Given the description of an element on the screen output the (x, y) to click on. 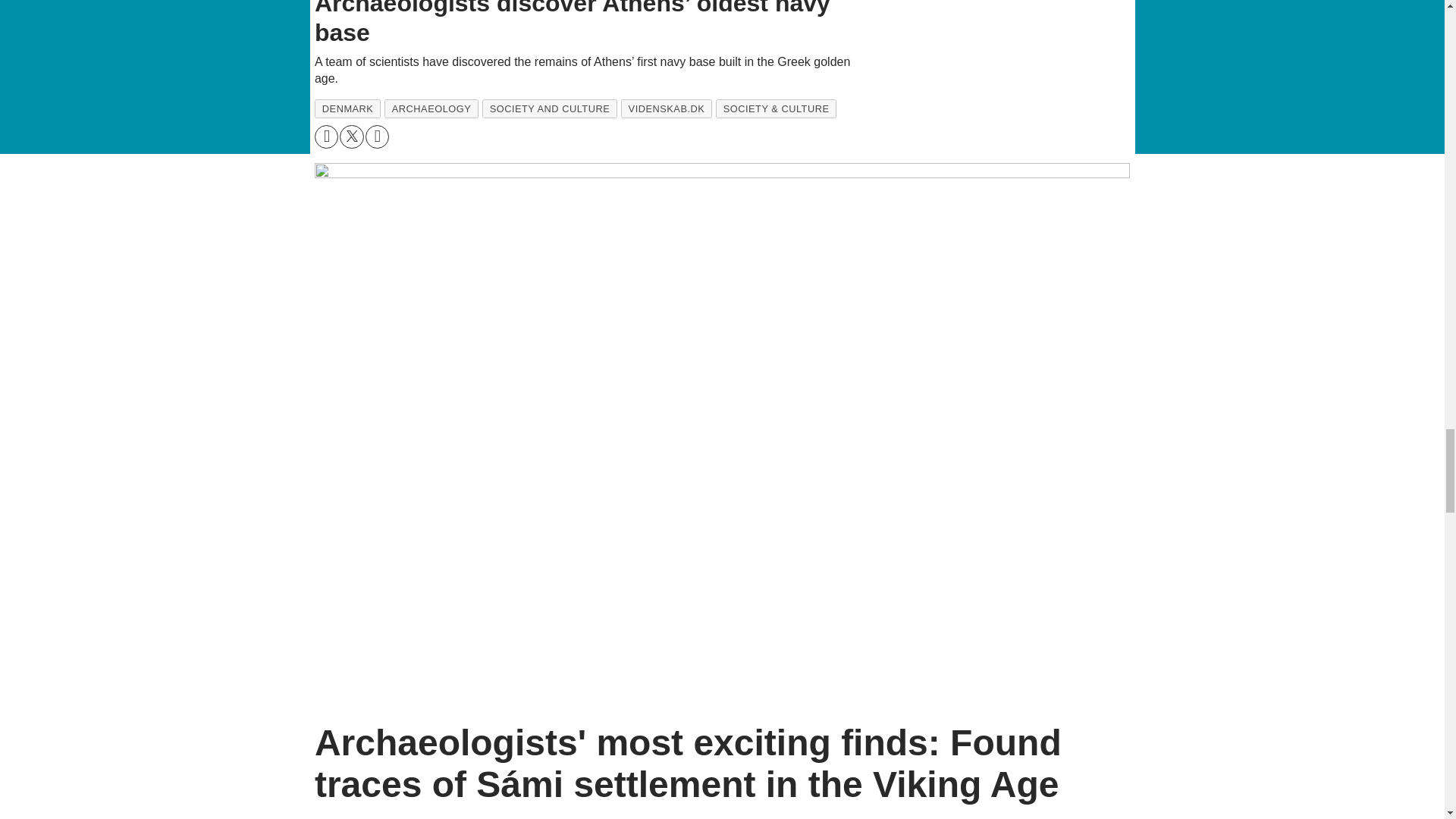
DENMARK (347, 108)
SOCIETY AND CULTURE (549, 108)
ARCHAEOLOGY (431, 108)
